Given the description of an element on the screen output the (x, y) to click on. 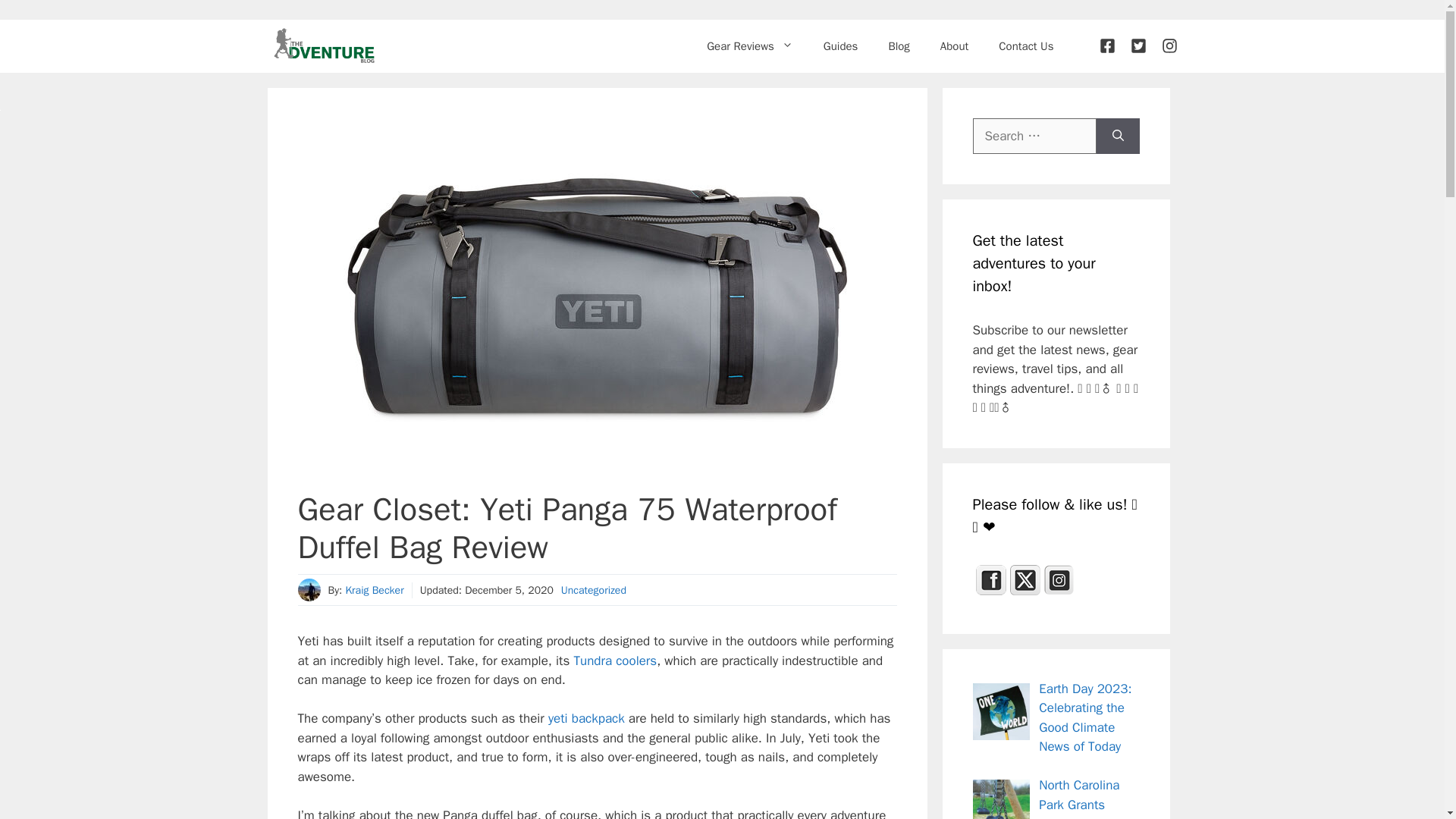
The Adventure Blog (323, 45)
Facebook (990, 579)
Uncategorized (593, 590)
Search for: (1034, 135)
Blog (898, 44)
Twitter (1025, 579)
Contact Us (1026, 44)
Gear Reviews (749, 44)
Guides (840, 44)
yeti backpack (586, 718)
